Given the description of an element on the screen output the (x, y) to click on. 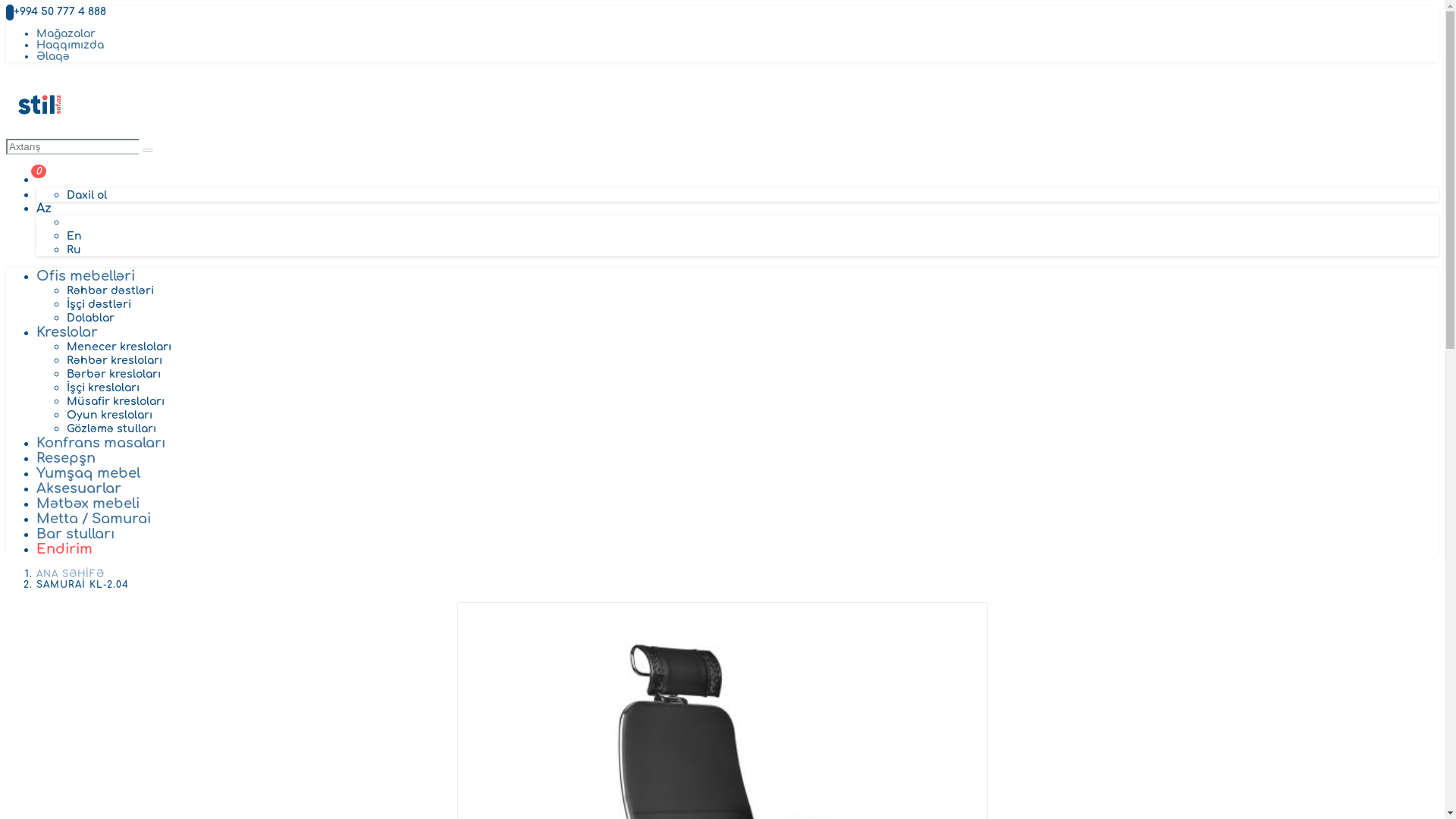
Aksesuarlar Element type: text (78, 487)
Metta / Samurai Element type: text (93, 518)
Endirim Element type: text (64, 548)
Dolablar Element type: text (90, 317)
Kreslolar Element type: text (66, 331)
En Element type: text (73, 235)
+994 50 777 4 888 Element type: text (56, 11)
Daxil ol Element type: text (86, 194)
Ru Element type: text (73, 249)
Az Element type: text (43, 208)
